Given the description of an element on the screen output the (x, y) to click on. 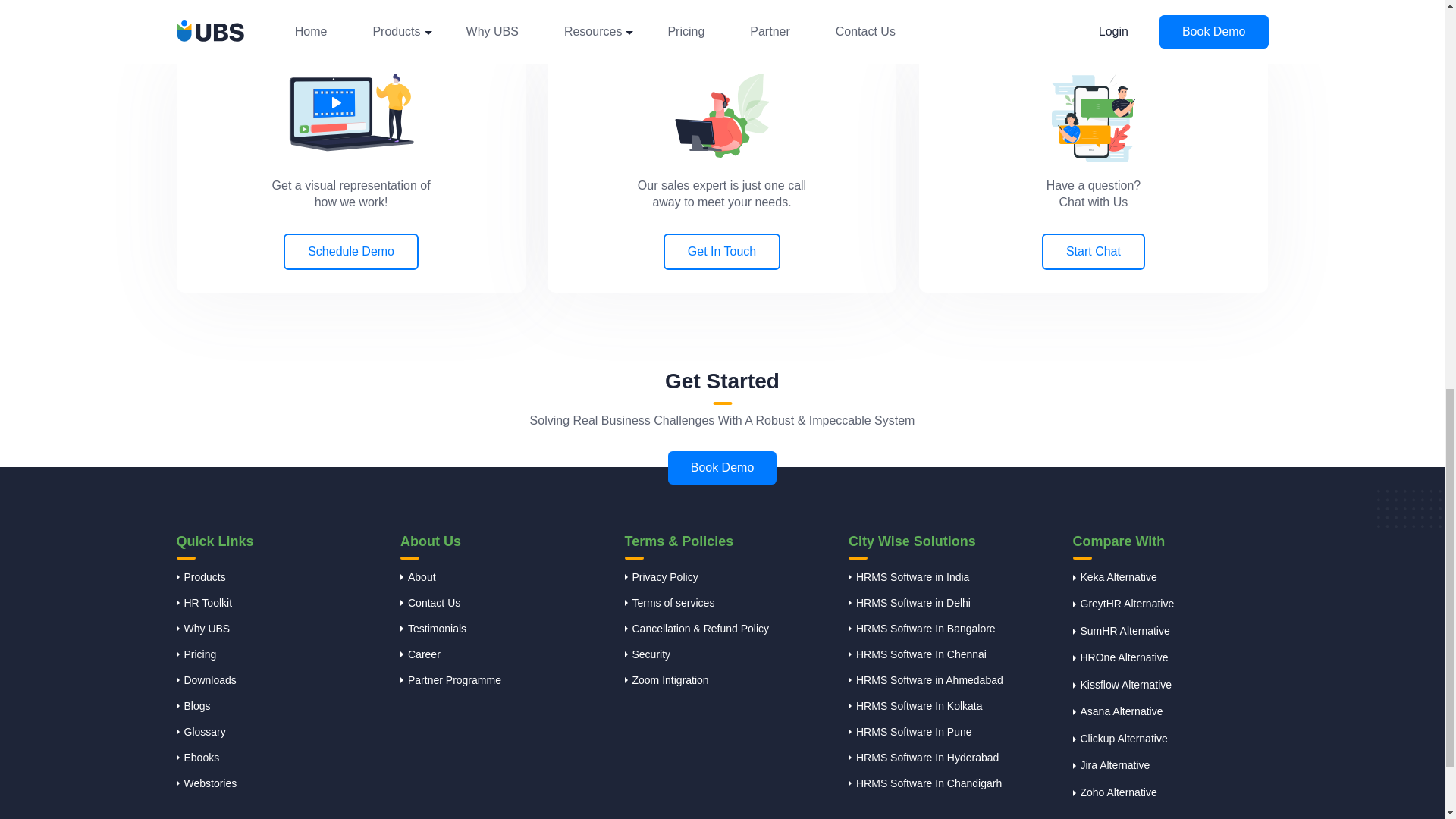
Watch a Demo (350, 112)
Start Chat (1093, 117)
Get in Touch (722, 115)
